Given the description of an element on the screen output the (x, y) to click on. 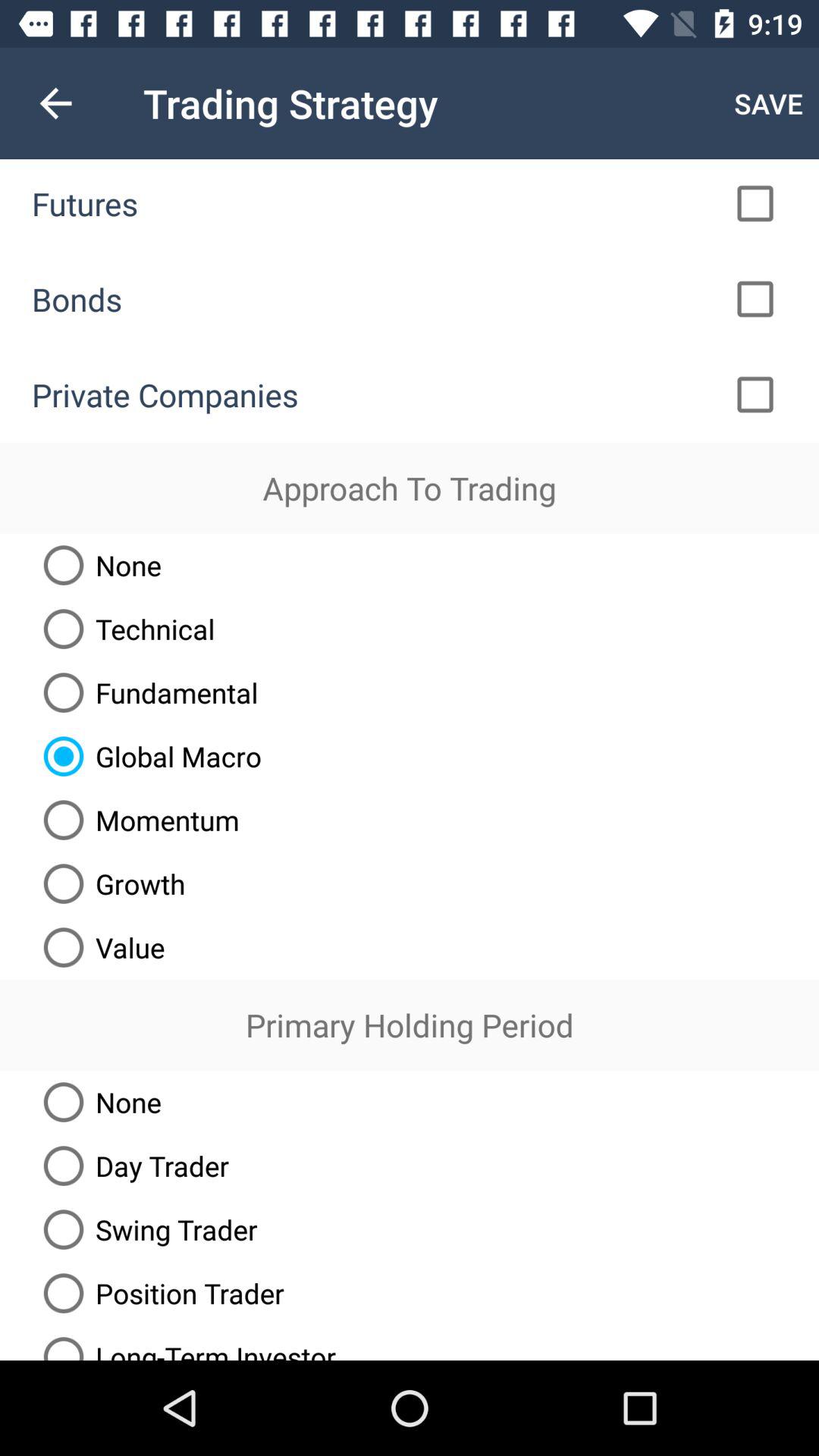
open the radio button below global macro icon (135, 819)
